Given the description of an element on the screen output the (x, y) to click on. 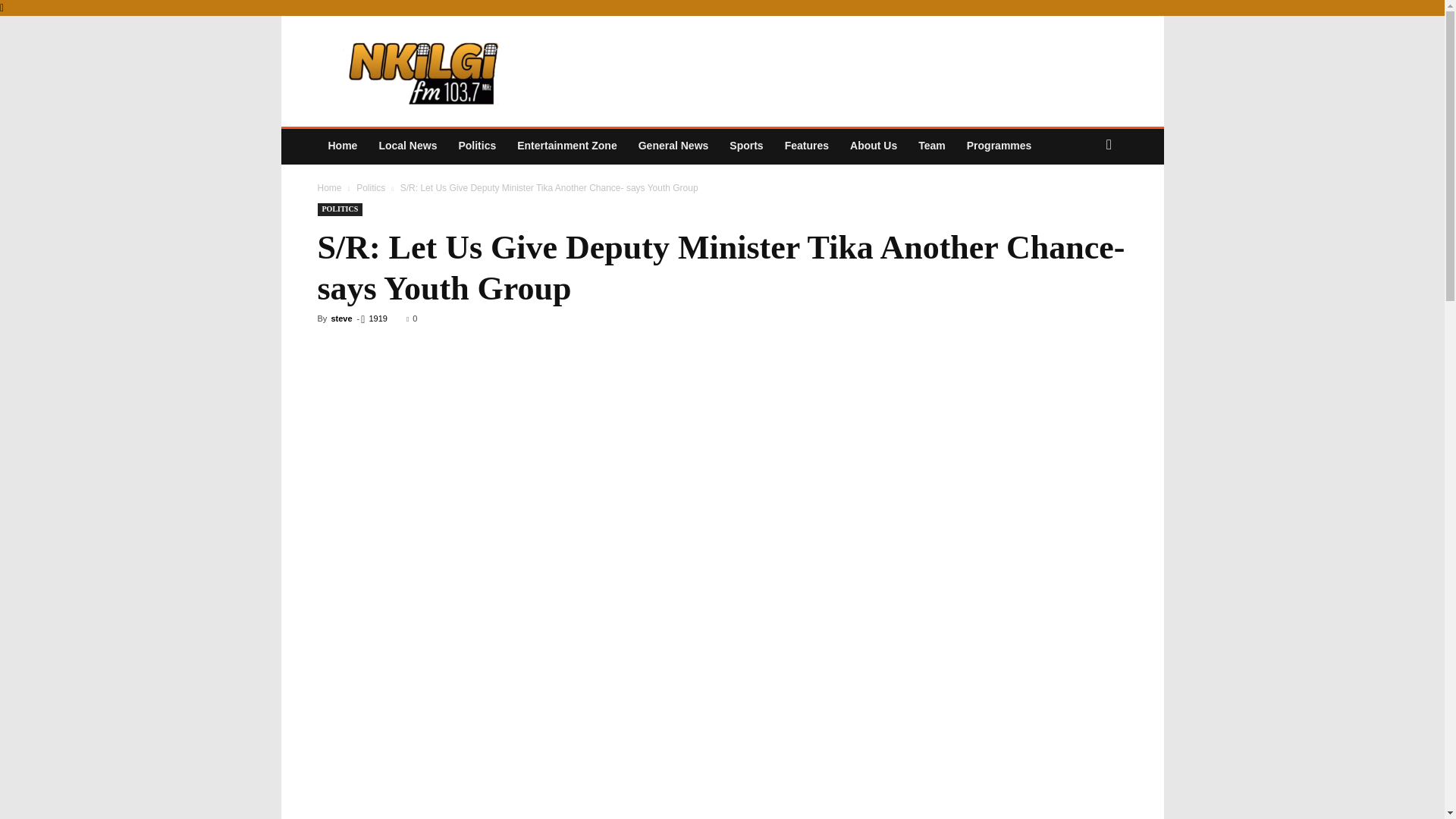
Features (807, 145)
0 (411, 317)
Politics (370, 187)
Sports (746, 145)
Politics (476, 145)
Search (1080, 205)
steve (341, 317)
View all posts in Politics (370, 187)
Entertainment Zone (566, 145)
Home (328, 187)
Team (931, 145)
General News (673, 145)
Local News (407, 145)
POLITICS (339, 209)
Programmes (999, 145)
